Given the description of an element on the screen output the (x, y) to click on. 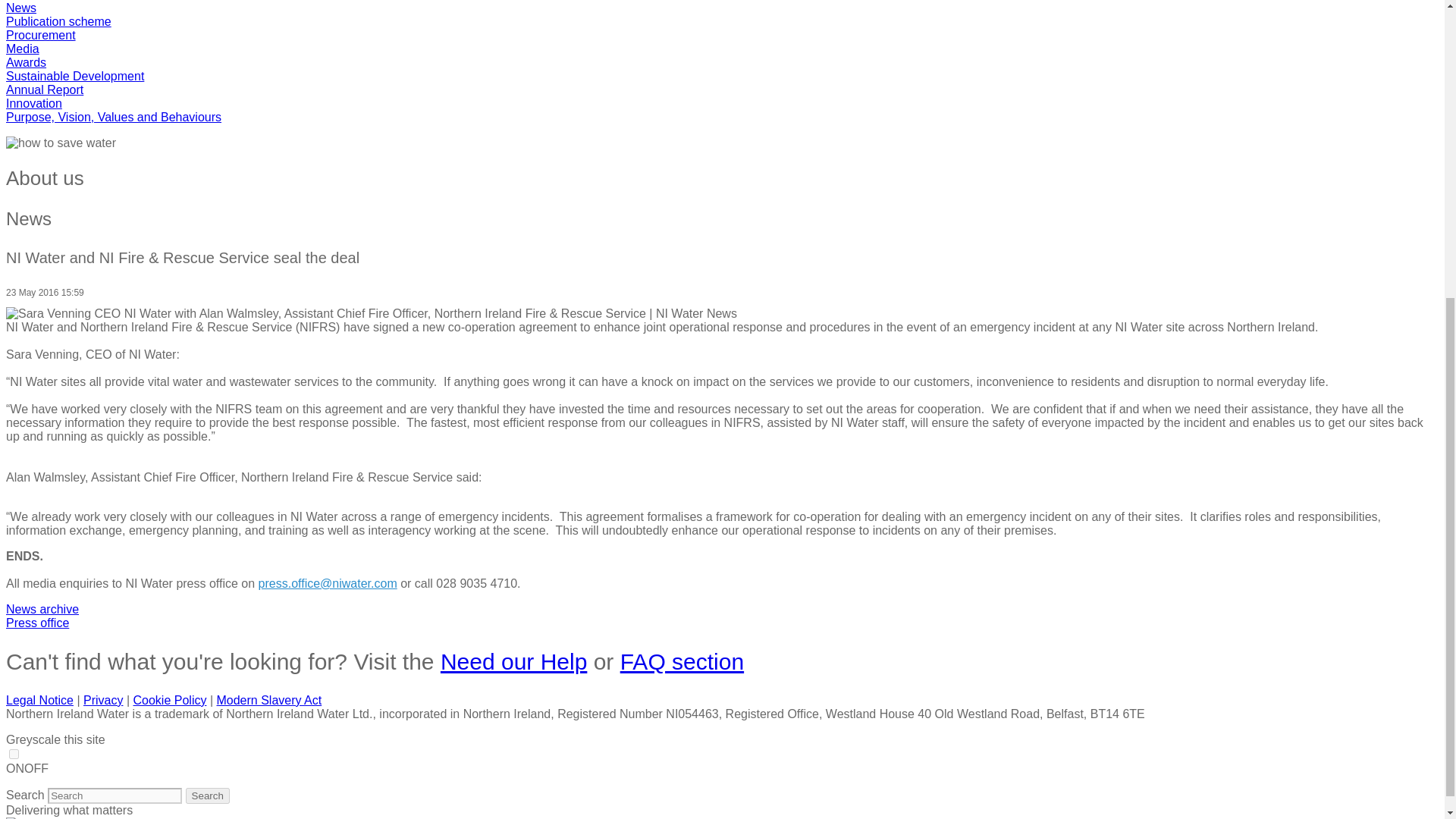
Sustainable Development (74, 75)
Publication scheme (58, 21)
Purpose, Vision, Values and Behaviours (113, 116)
Media (22, 48)
Annual Report (43, 89)
Awards (25, 62)
News (20, 7)
on (13, 754)
Procurement (40, 34)
